Given the description of an element on the screen output the (x, y) to click on. 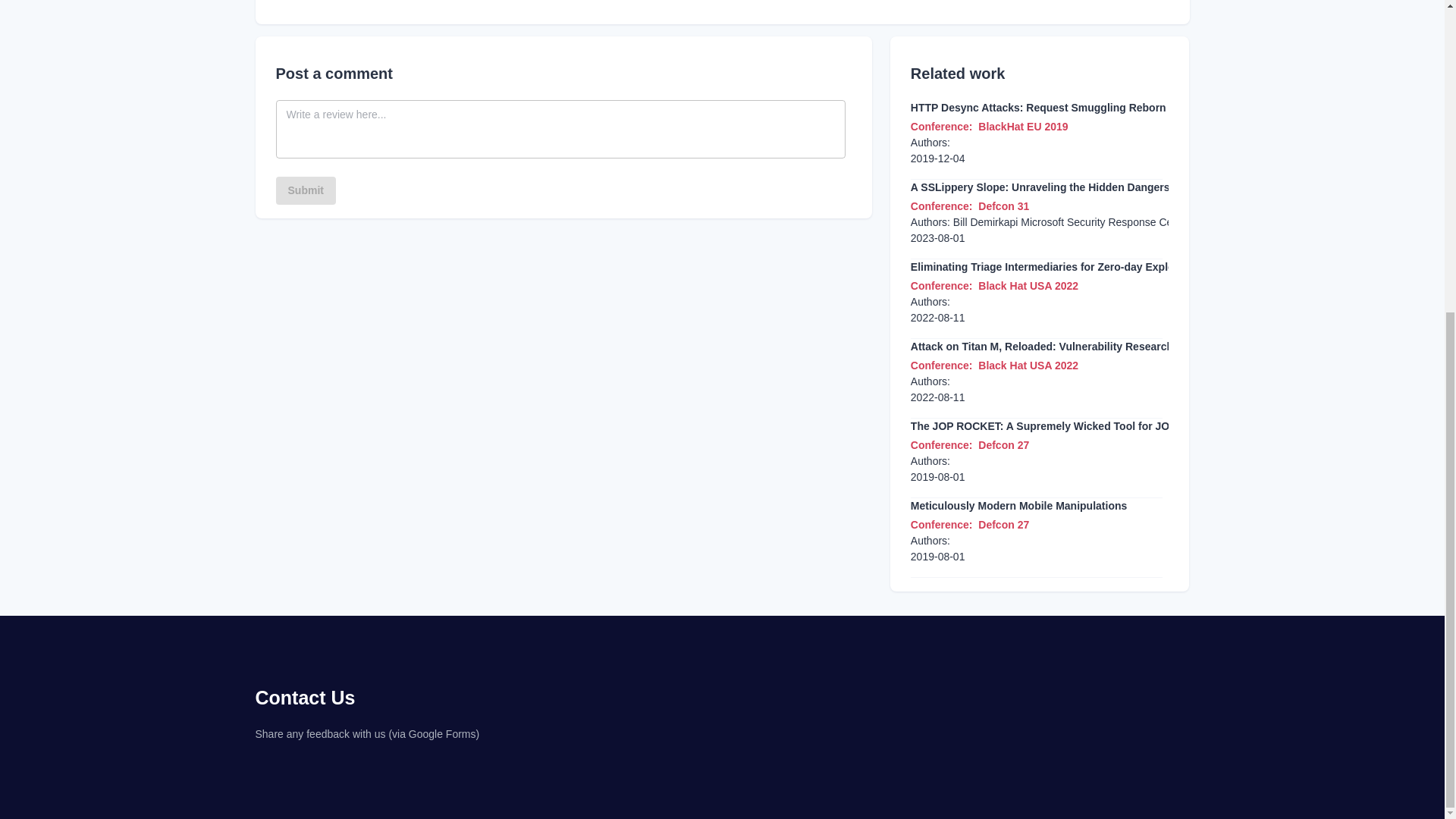
HTTP Desync Attacks: Request Smuggling Reborn (1038, 107)
BlackHat EU 2019 (1022, 126)
Defcon 31 (1003, 205)
HTTP Desync Attacks: Request Smuggling Reborn (1038, 107)
Defcon 27 (1003, 524)
Meticulously Modern Mobile Manipulations (1018, 505)
Defcon 27 (1003, 444)
Black Hat USA 2022 (1028, 285)
